Given the description of an element on the screen output the (x, y) to click on. 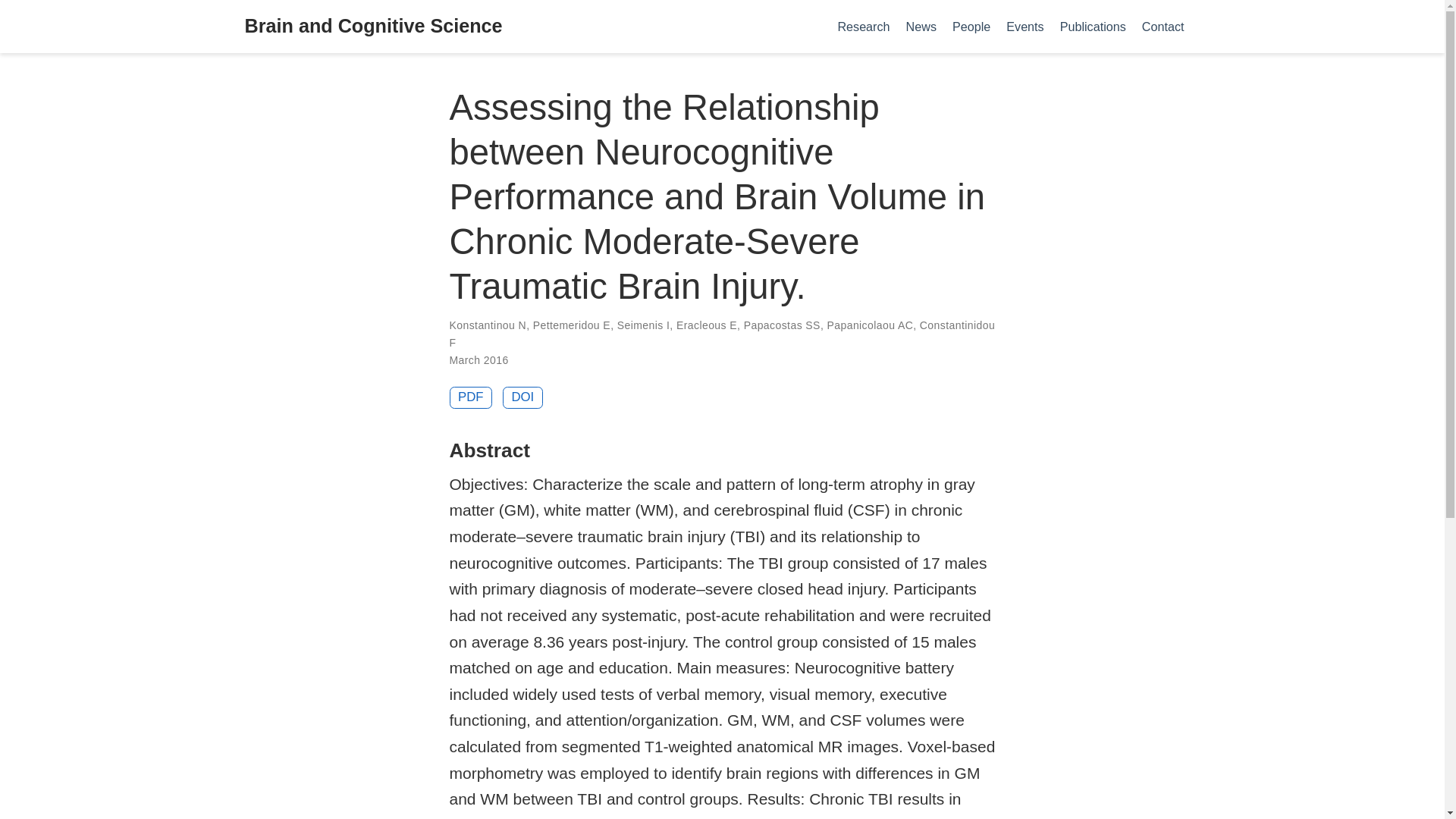
Contact (1163, 25)
Pettemeridou E (571, 325)
Events (1024, 25)
Research (863, 25)
PDF (470, 397)
Konstantinou N (486, 325)
News (920, 25)
Eracleous E (706, 325)
Seimenis I (643, 325)
Papacostas SS (782, 325)
